Given the description of an element on the screen output the (x, y) to click on. 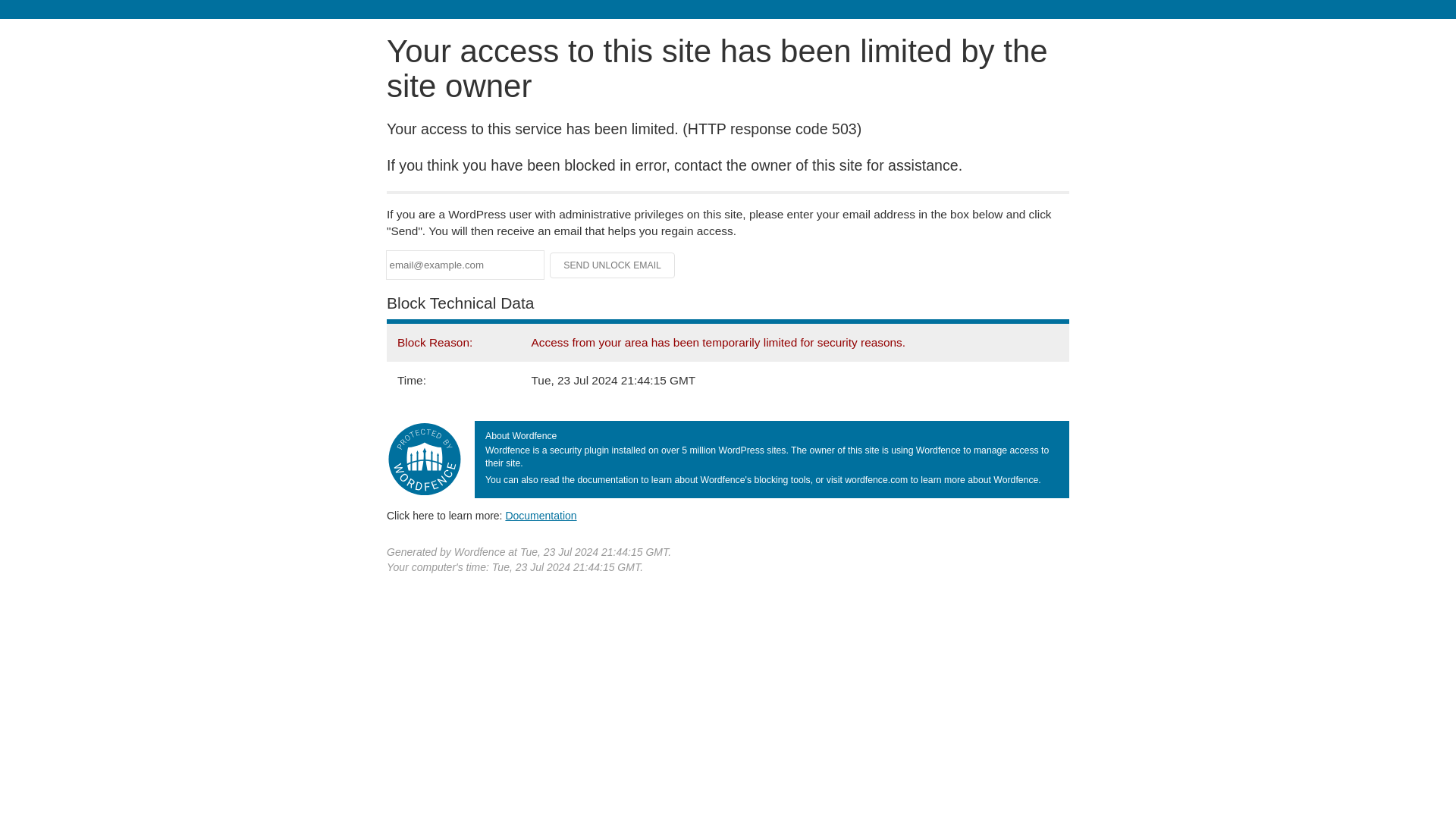
Documentation (540, 515)
Send Unlock Email (612, 265)
Send Unlock Email (612, 265)
